Given the description of an element on the screen output the (x, y) to click on. 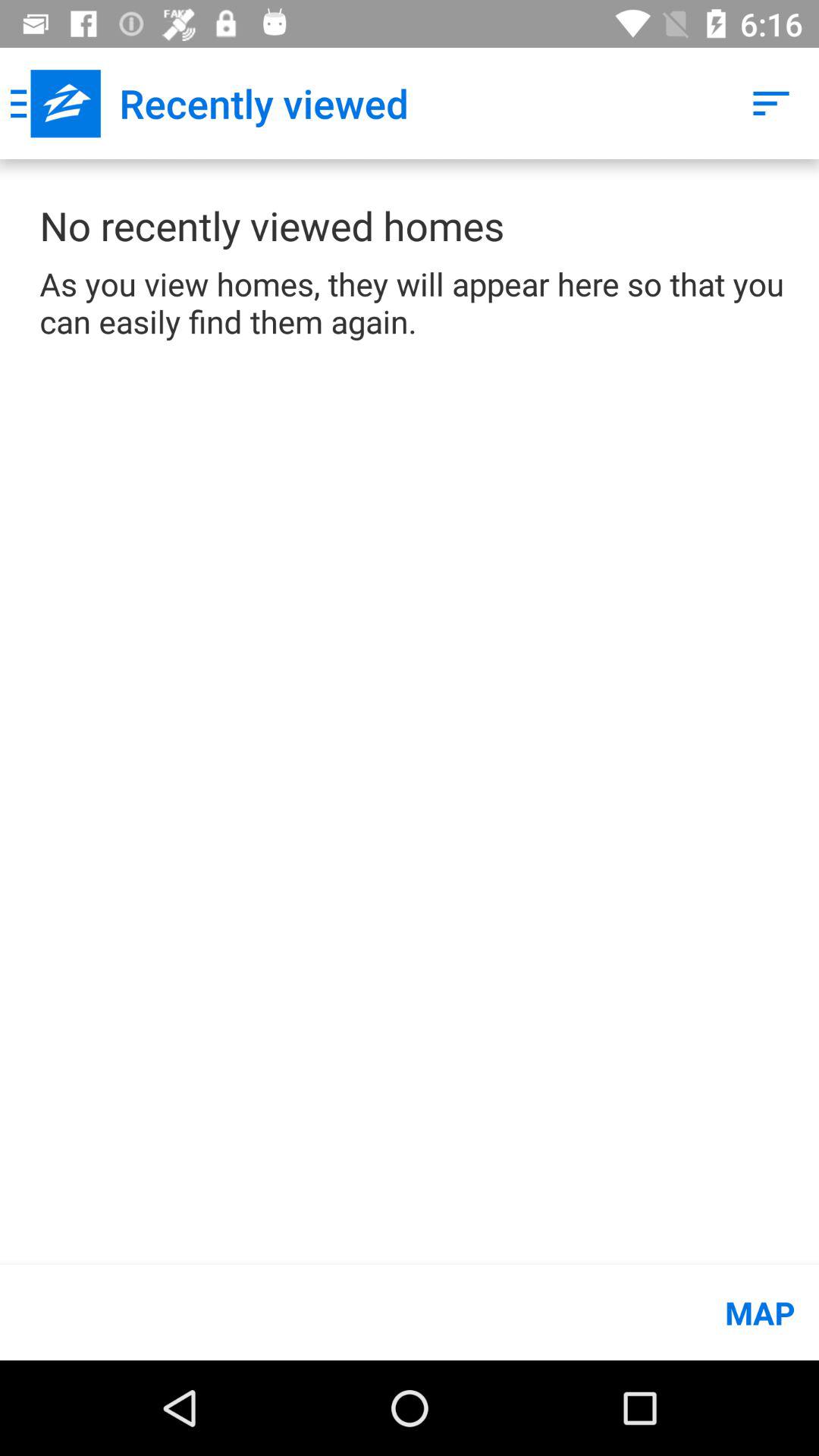
swipe to the map (409, 1312)
